Given the description of an element on the screen output the (x, y) to click on. 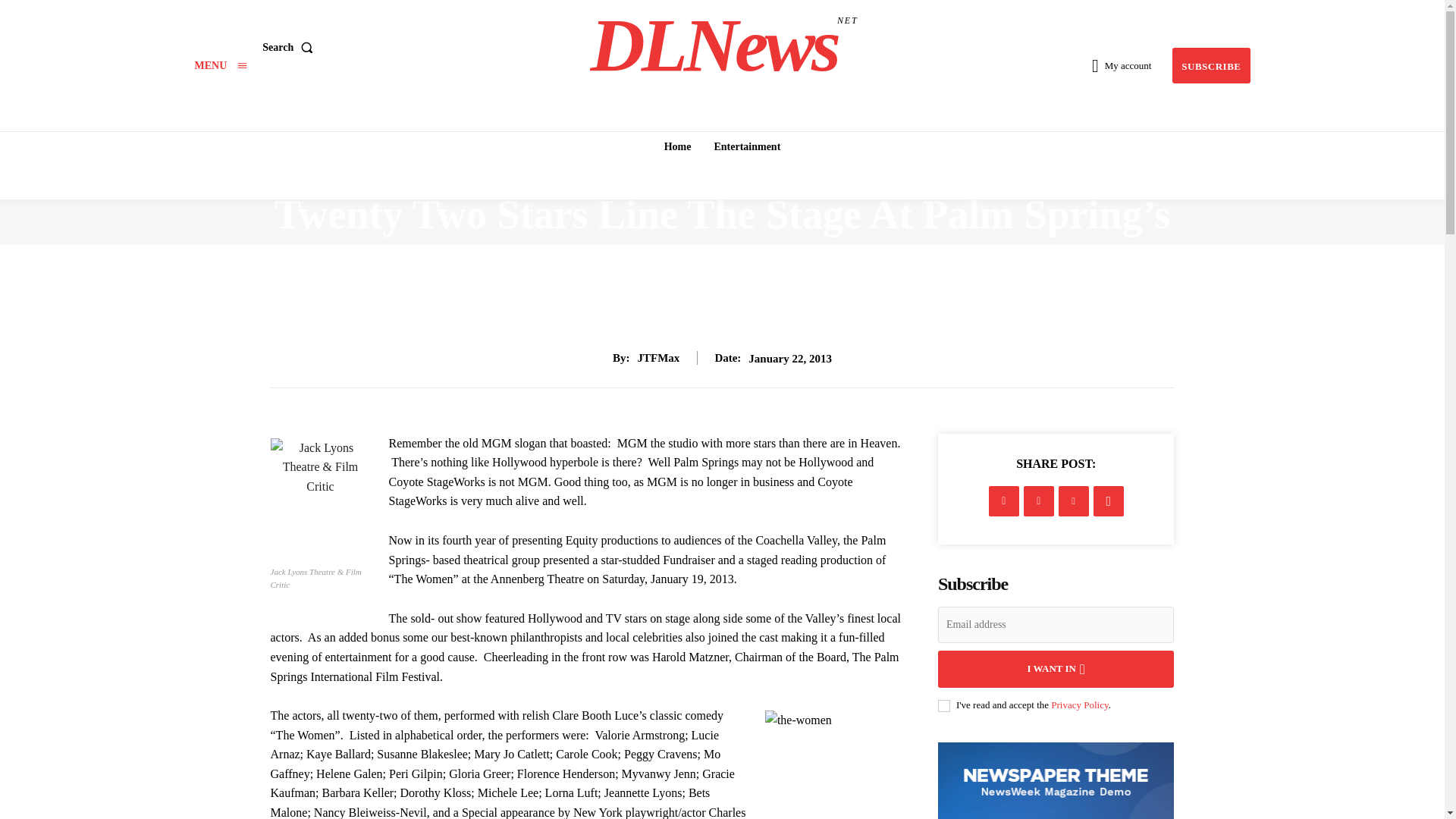
WhatsApp (1108, 501)
Pinterest (1073, 501)
Menu (220, 65)
JTFMax (658, 357)
ENTERTAINMENT (722, 166)
I WANT IN (1055, 668)
Search (290, 47)
Entertainment (746, 146)
Twitter (1038, 501)
Privacy Policy (1079, 704)
